Given the description of an element on the screen output the (x, y) to click on. 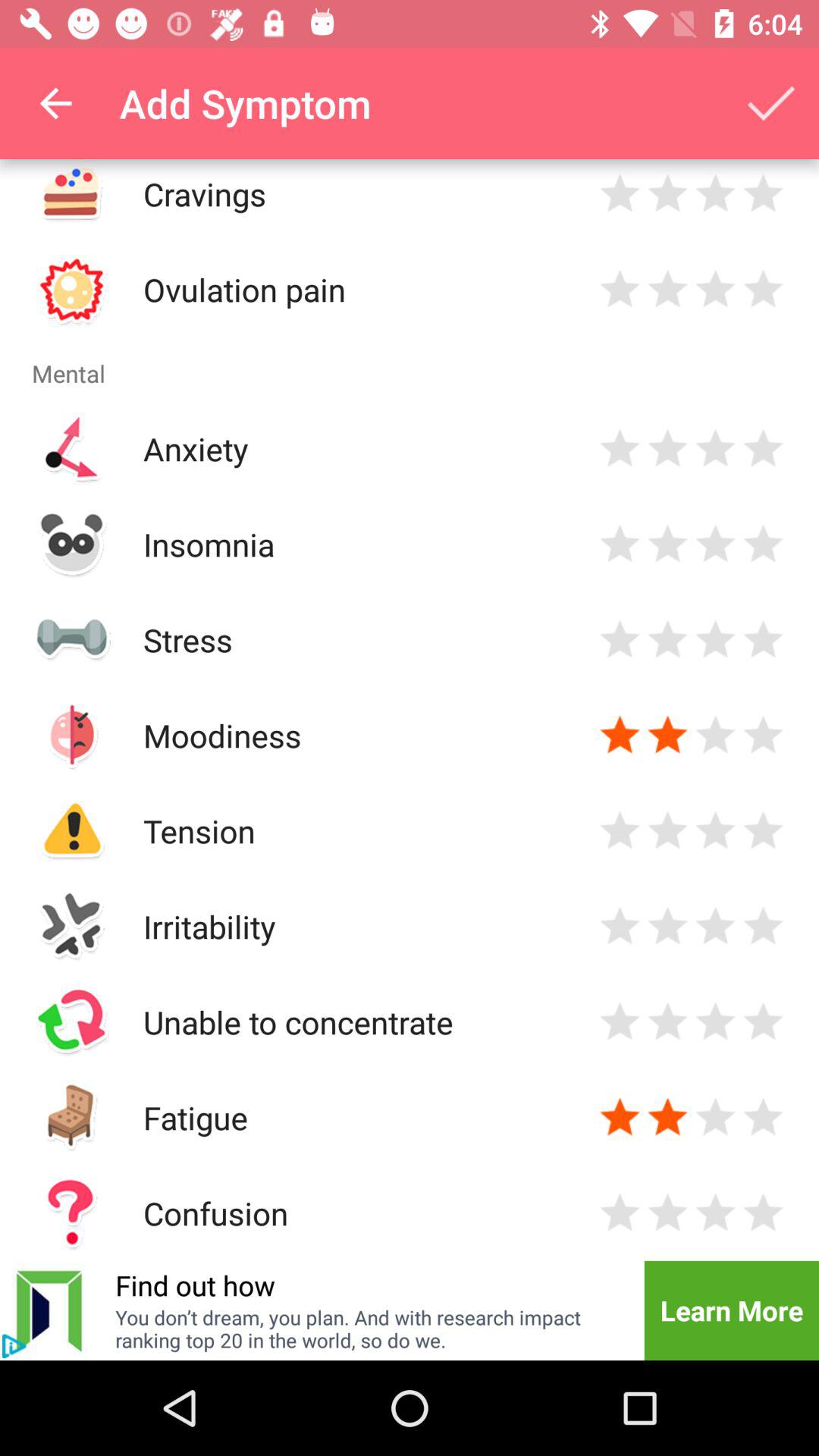
add specific feedback rate (667, 544)
